Given the description of an element on the screen output the (x, y) to click on. 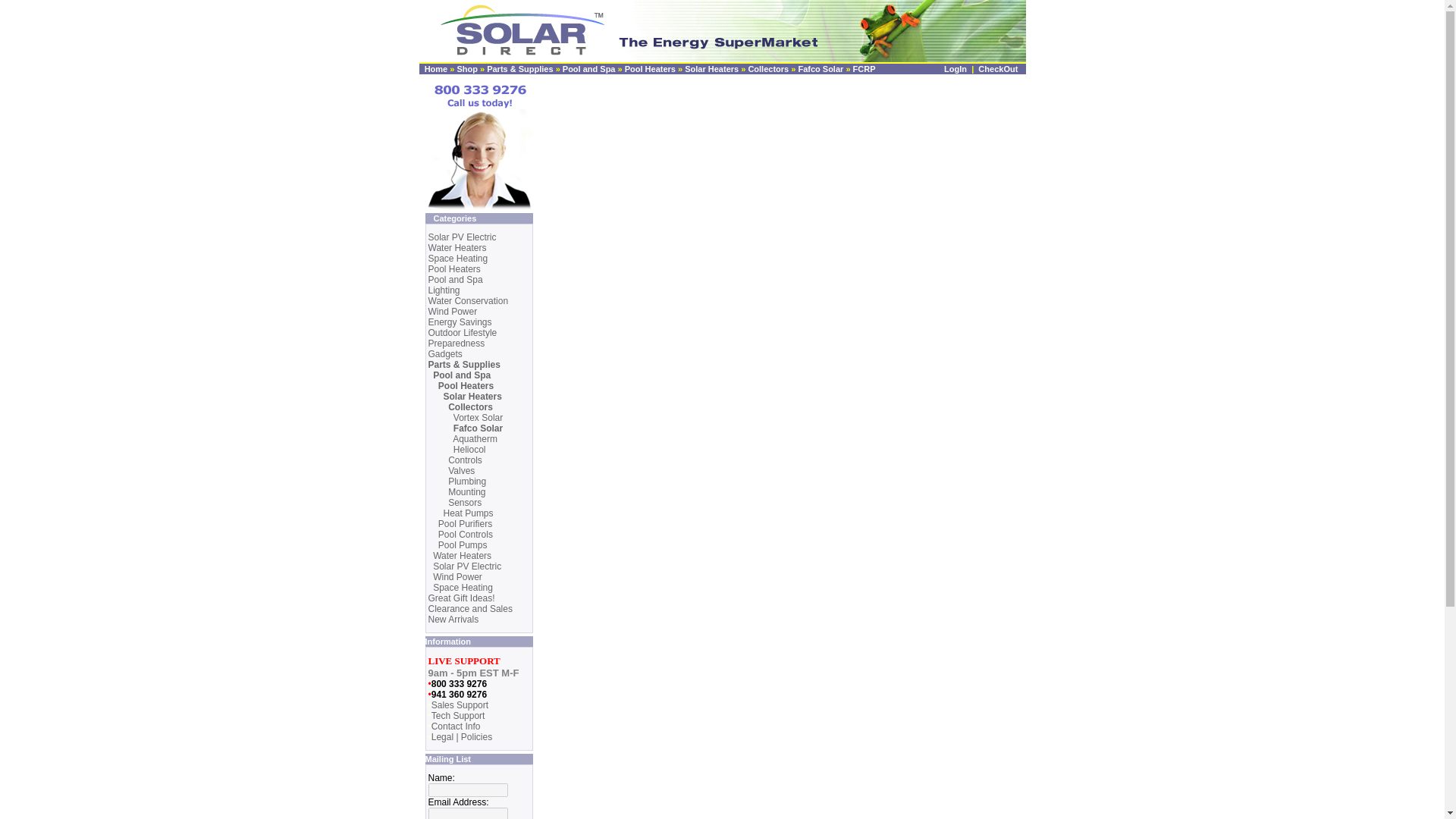
Energy Savings (460, 321)
Mounting (466, 491)
Space Heating (457, 258)
Collectors (470, 407)
Wind Power (452, 311)
Pool and Spa (588, 68)
Lighting (444, 290)
Heliocol (469, 449)
Collectors (768, 68)
 Where the World Shops for Energy  (722, 31)
